Given the description of an element on the screen output the (x, y) to click on. 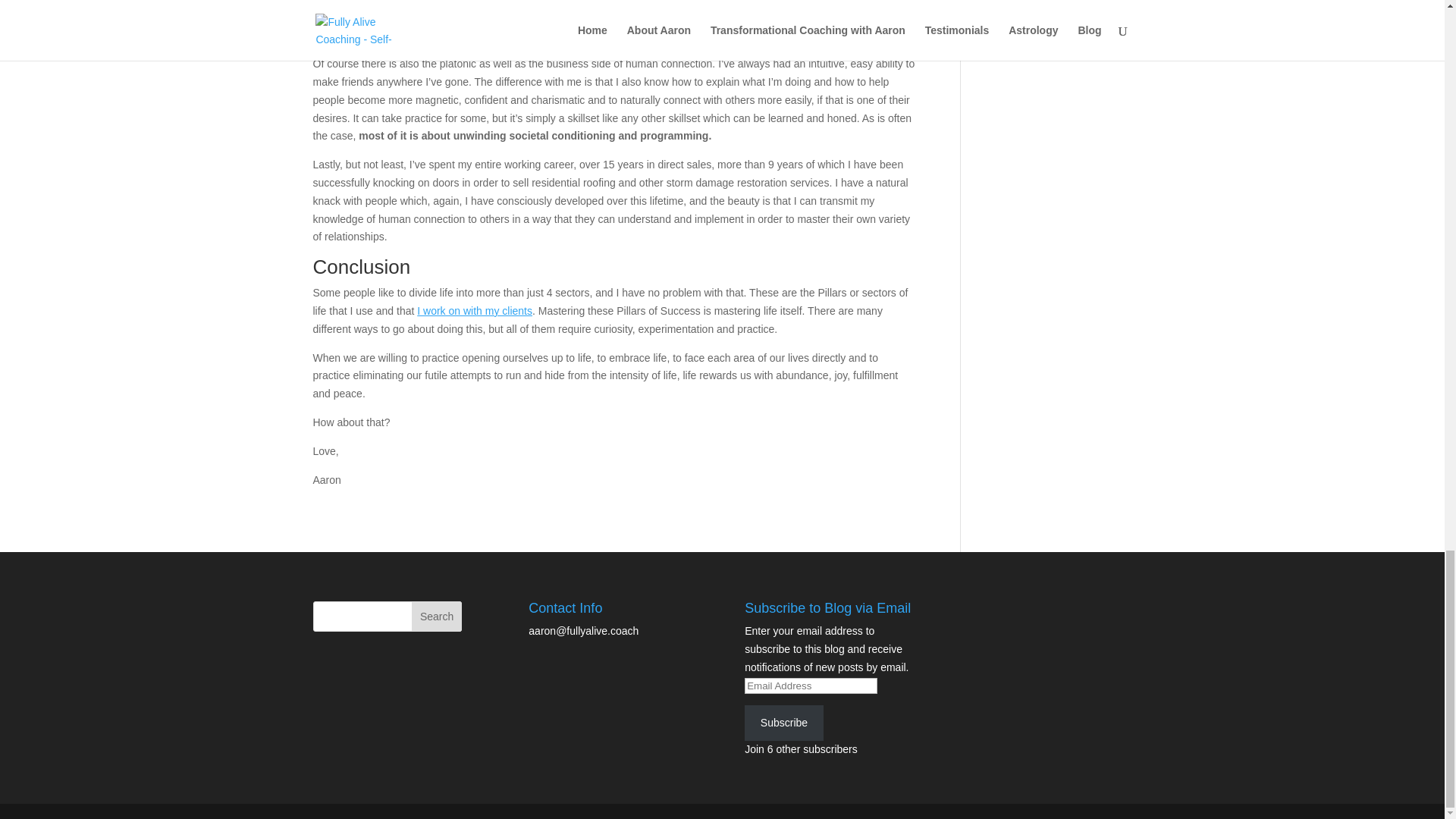
I work on with my clients (474, 310)
Search (436, 616)
